Given the description of an element on the screen output the (x, y) to click on. 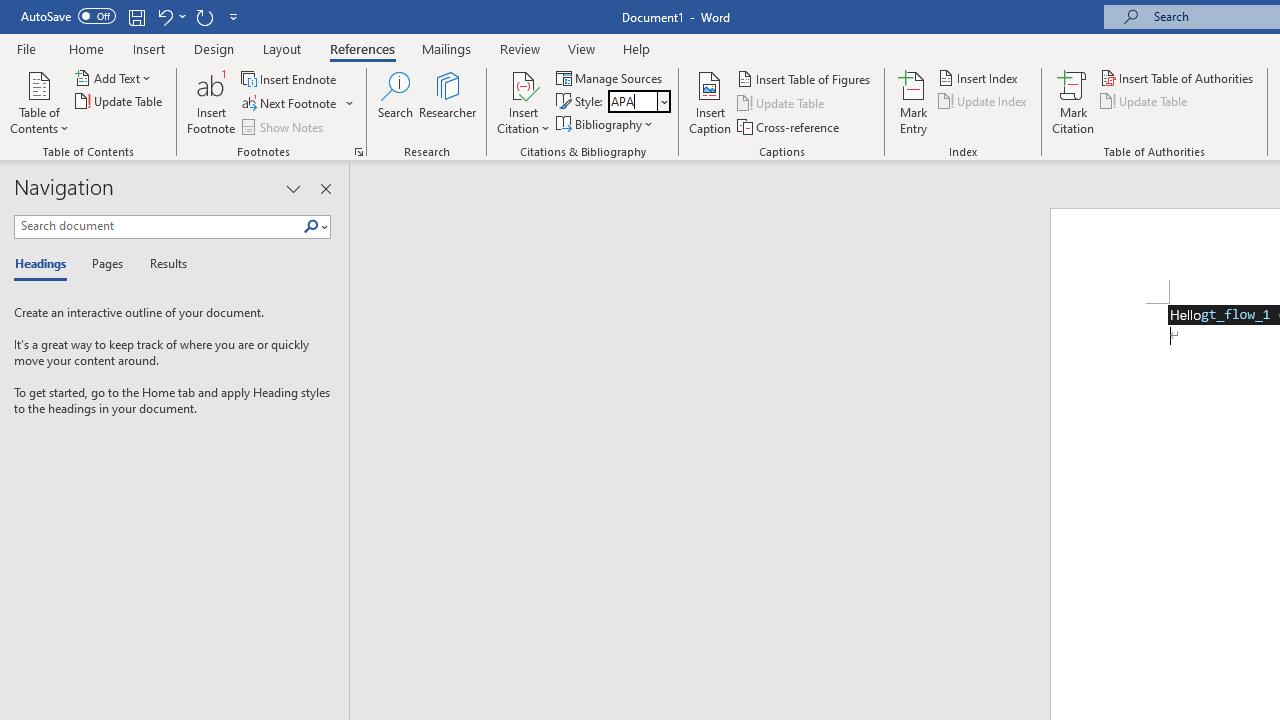
Insert Table of Authorities... (1177, 78)
Help (637, 48)
Footnote and Endnote Dialog... (358, 151)
Cross-reference... (789, 126)
Researcher (447, 102)
Next Footnote (298, 103)
Insert (149, 48)
Class: NetUIImage (311, 226)
Insert Index... (979, 78)
Customize Quick Access Toolbar (234, 15)
